Given the description of an element on the screen output the (x, y) to click on. 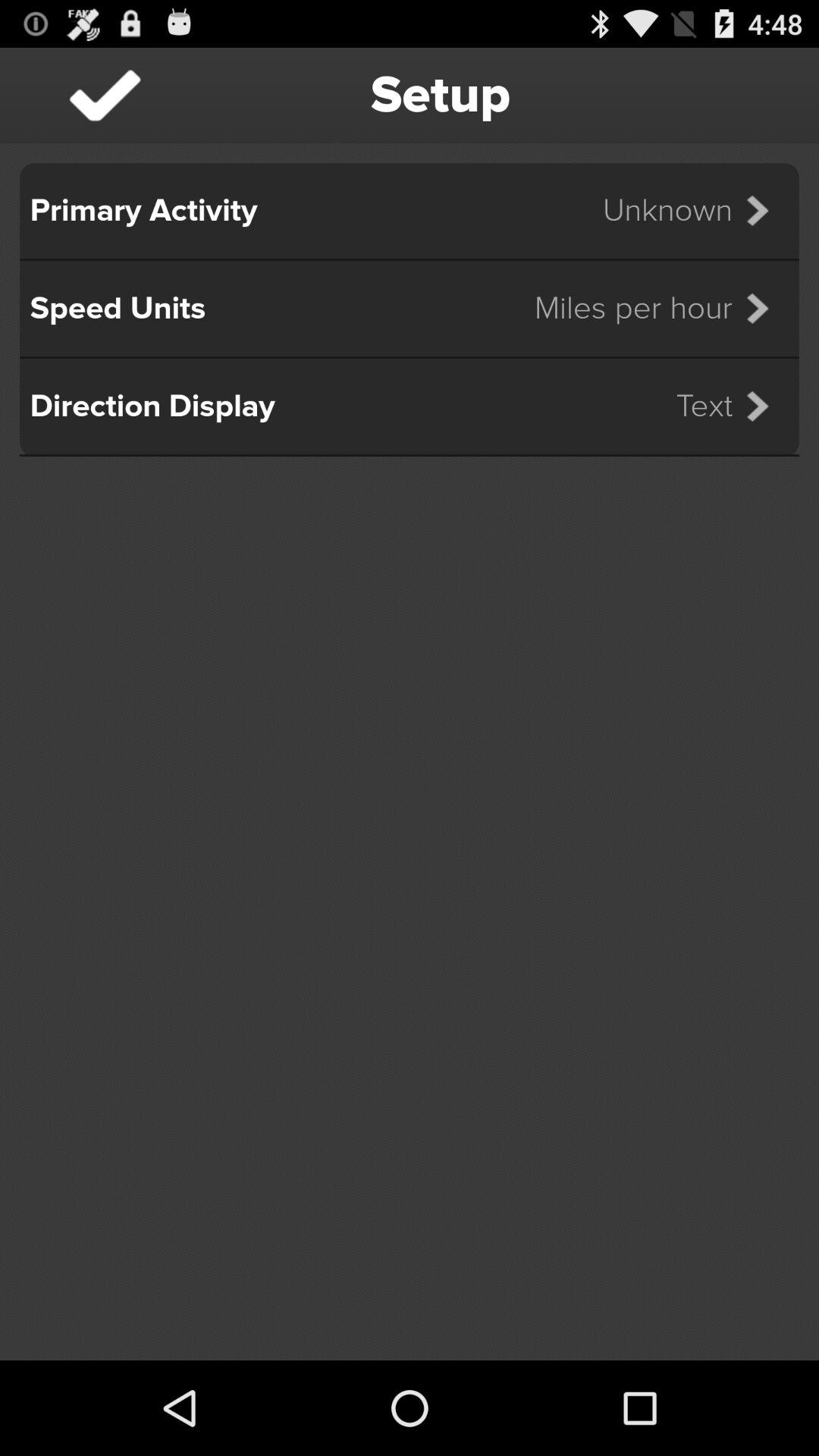
select item to the right of speed units icon (661, 308)
